Given the description of an element on the screen output the (x, y) to click on. 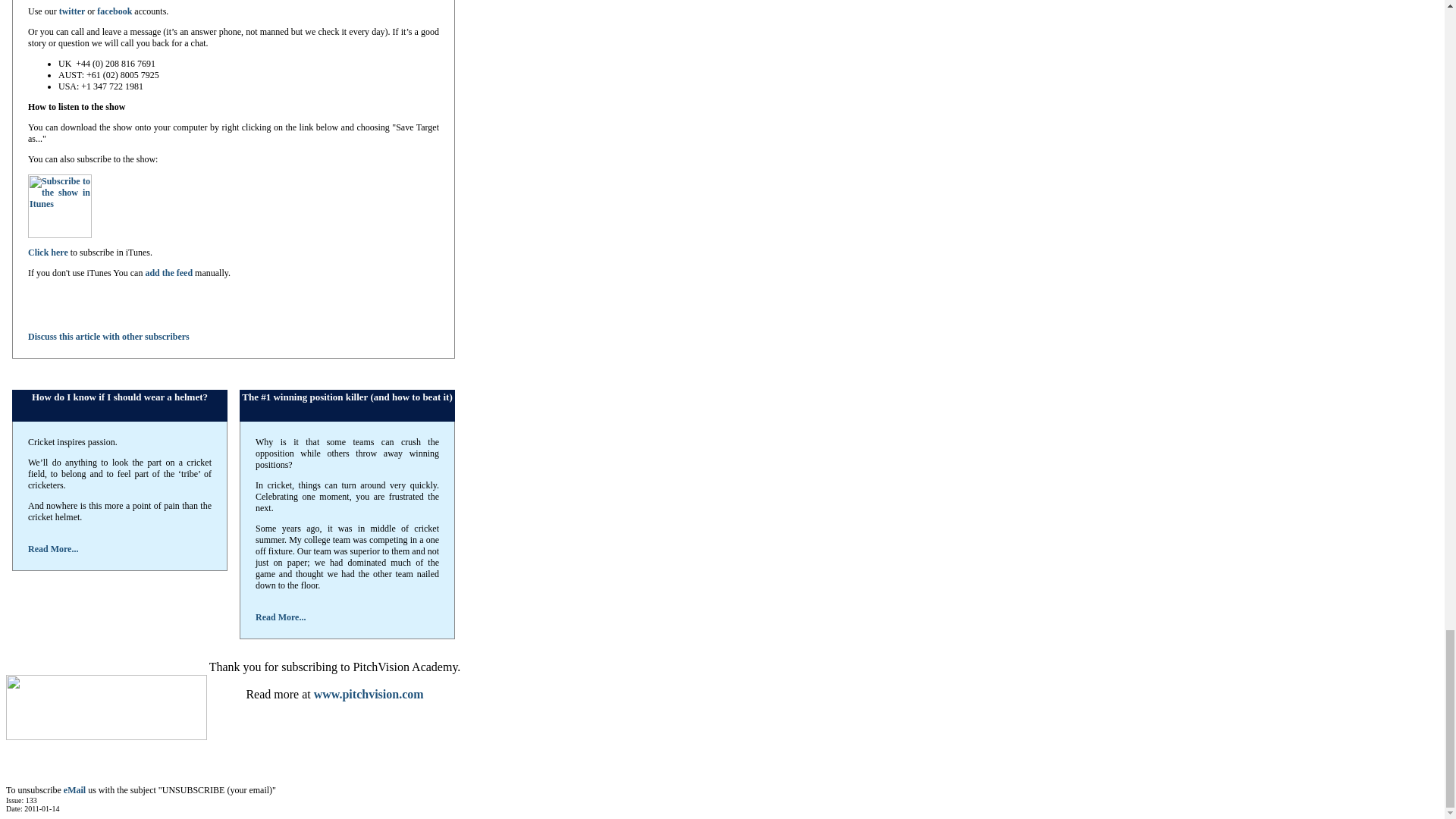
Read More... (52, 548)
www.pitchvision.com (368, 694)
Read More... (280, 616)
Click here (47, 252)
facebook (114, 10)
eMail (74, 789)
twitter (72, 10)
add the feed (168, 272)
Discuss this article with other subscribers (108, 336)
